Given the description of an element on the screen output the (x, y) to click on. 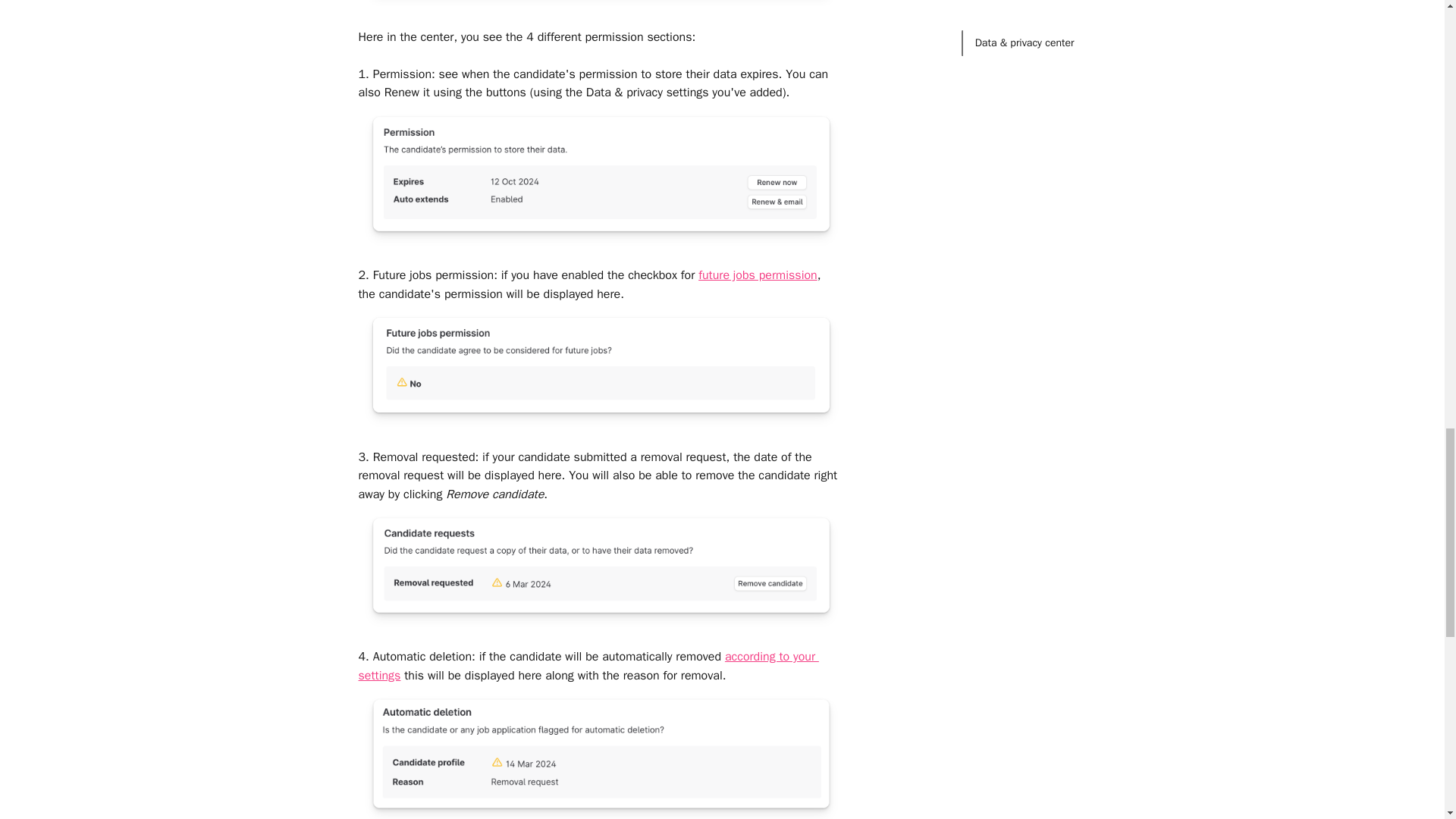
according to your settings (588, 665)
future jobs permission (757, 274)
